Given the description of an element on the screen output the (x, y) to click on. 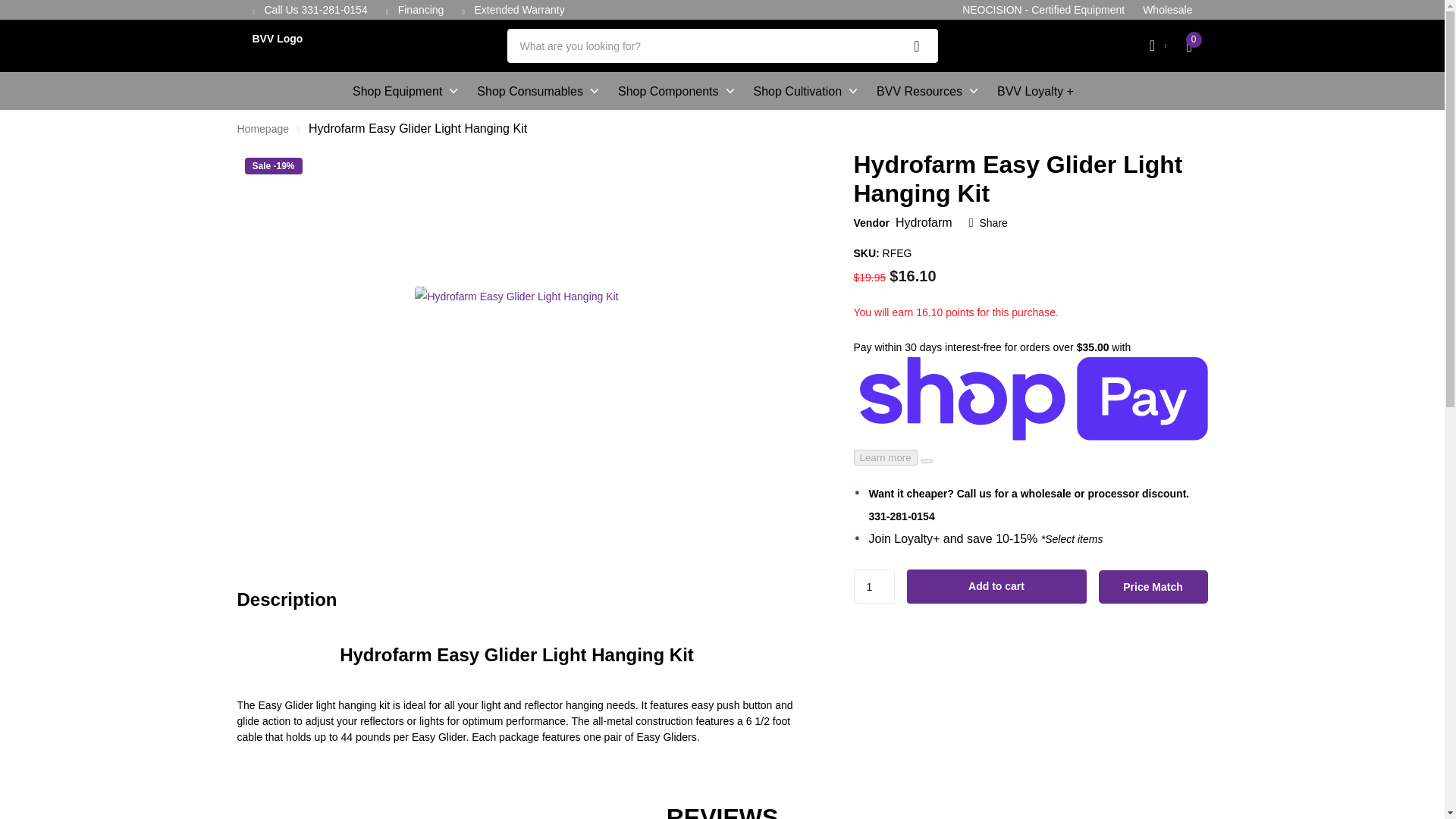
Wholesale (1167, 9)
Financing Options new (420, 9)
Zoeken (916, 45)
1 (874, 586)
Shop Equipment (404, 90)
Extended Warranty (519, 9)
Extended warranty (519, 9)
Call Us 331-281-0154 (314, 9)
Financing (420, 9)
NEOCISION - Certified Equipment (1043, 9)
